Given the description of an element on the screen output the (x, y) to click on. 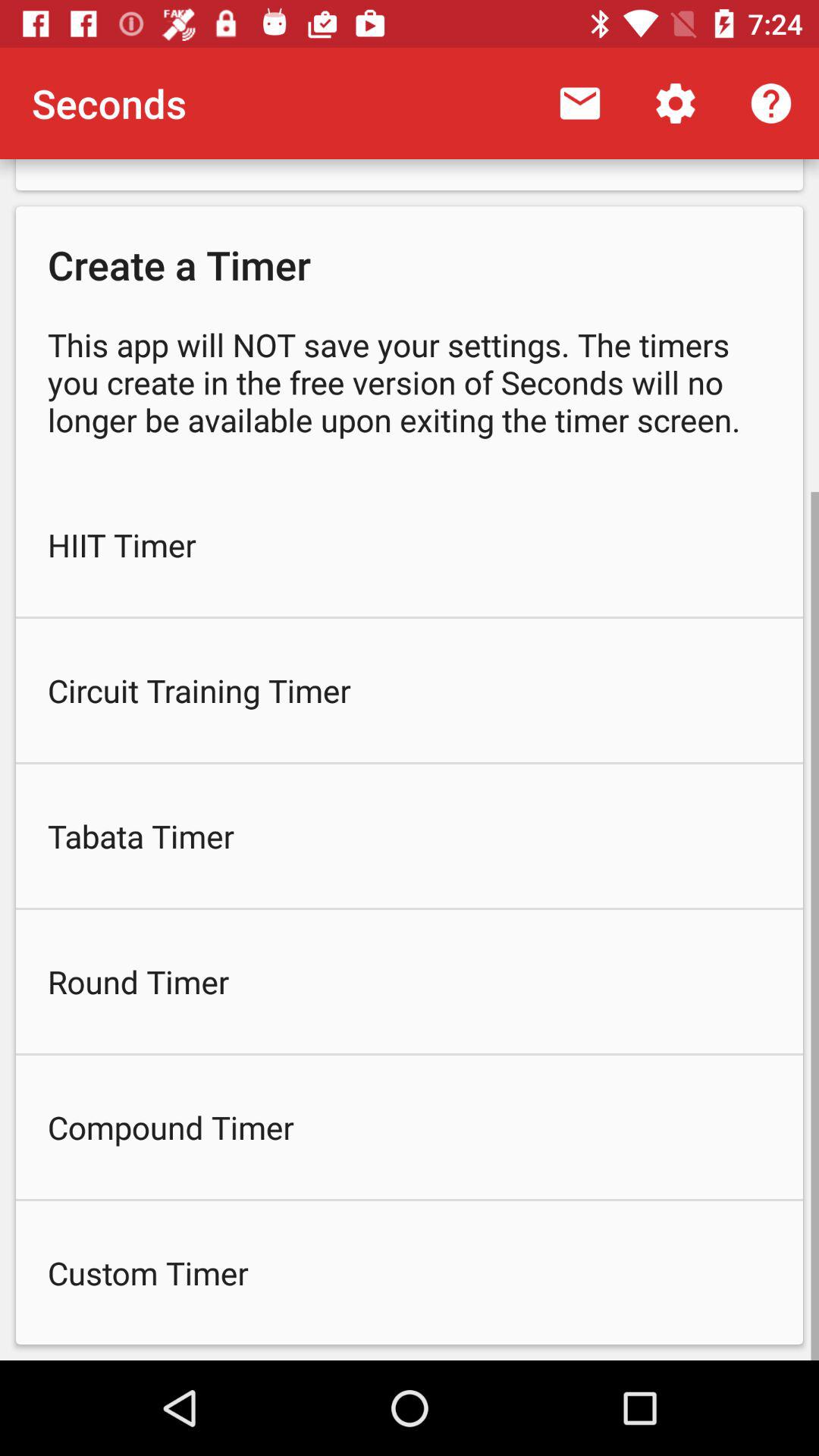
launch the tabata timer (409, 835)
